Given the description of an element on the screen output the (x, y) to click on. 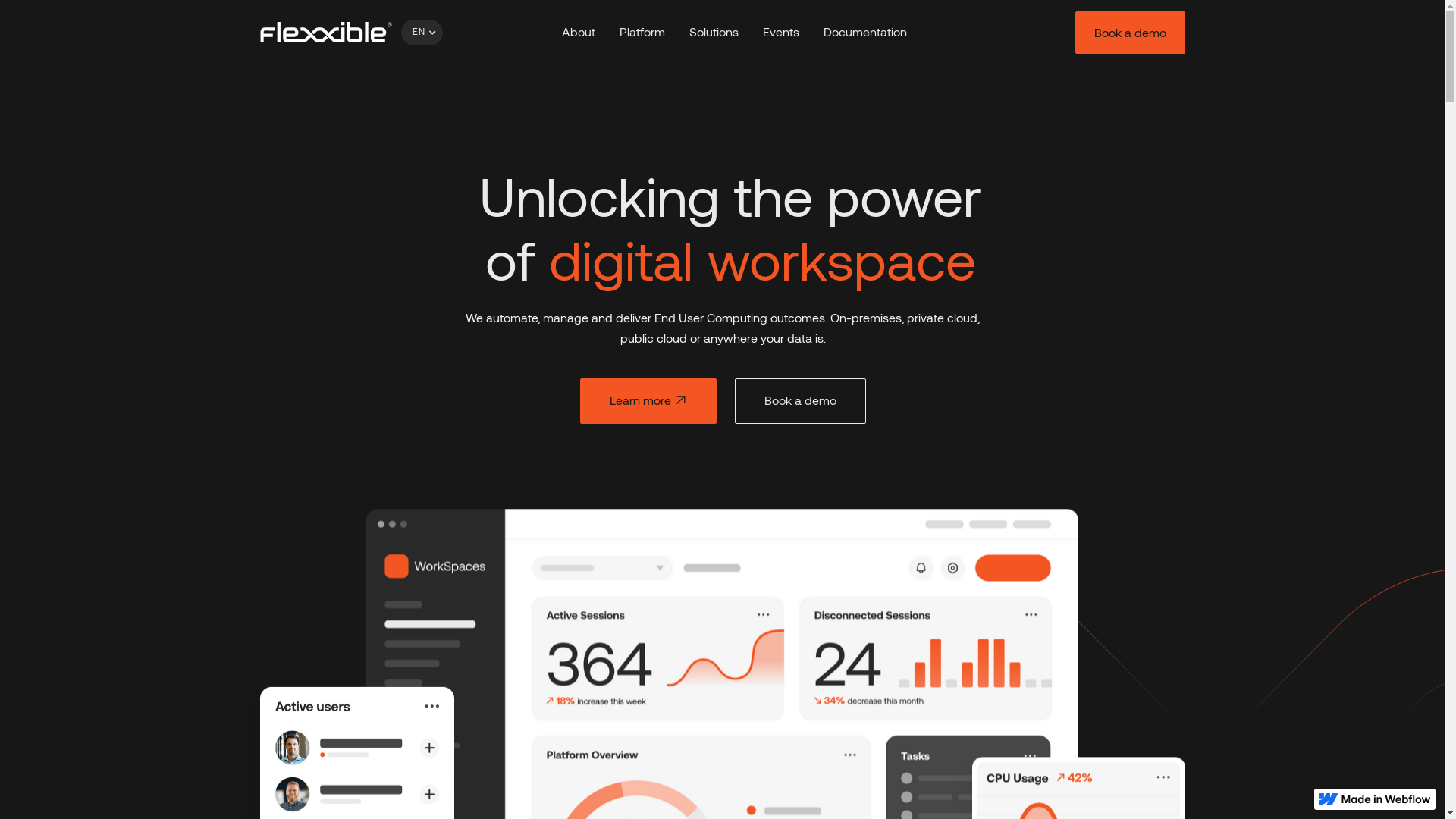
Book a demo Element type: text (1130, 32)
Platform Element type: text (642, 32)
Solutions Element type: text (713, 32)
Book a demo Element type: text (799, 400)
Events Element type: text (780, 32)
Documentation Element type: text (864, 32)
About Element type: text (578, 32)
